Given the description of an element on the screen output the (x, y) to click on. 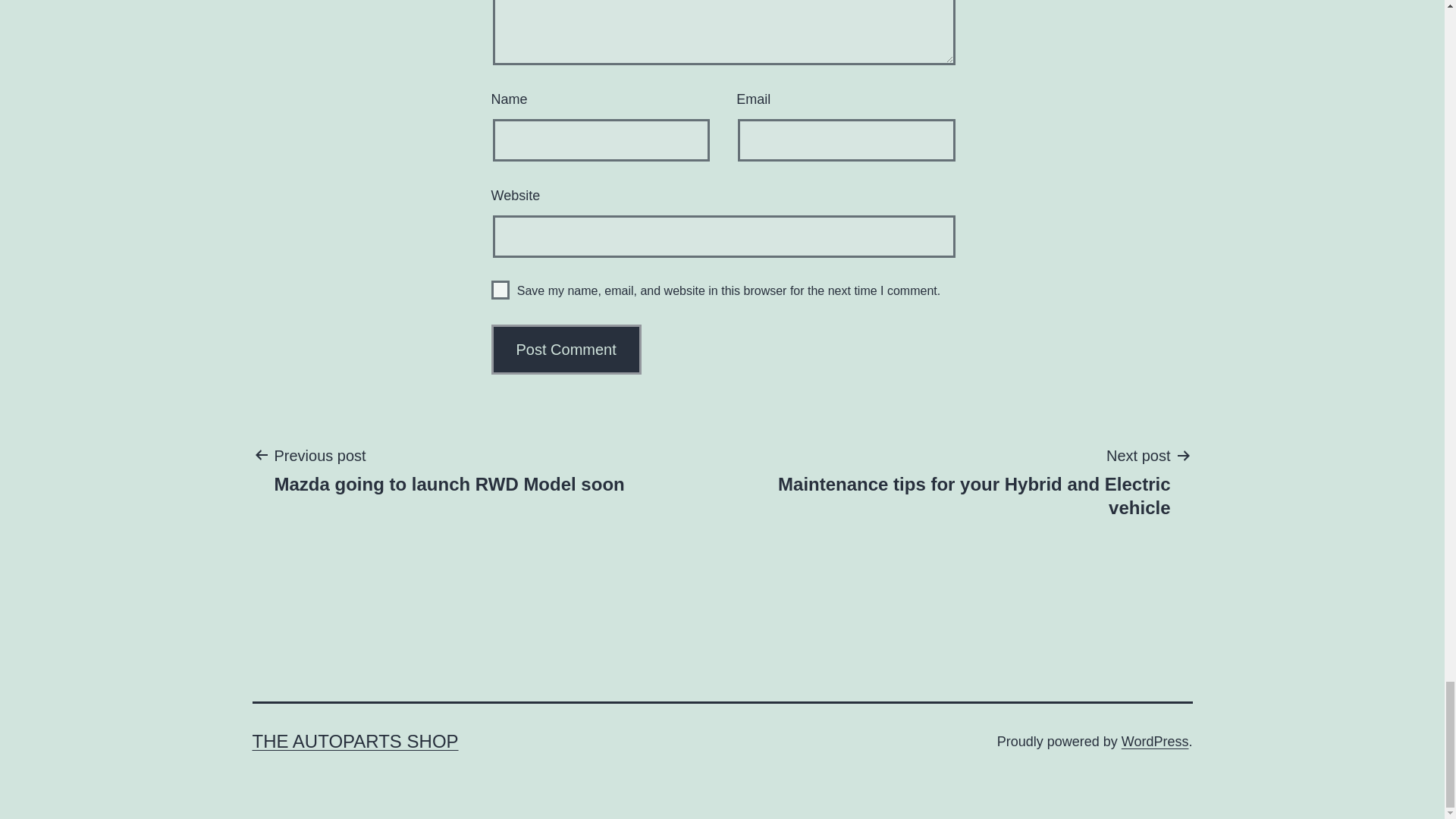
Post Comment (567, 349)
yes (500, 289)
THE AUTOPARTS SHOP (354, 741)
WordPress (1155, 741)
Post Comment (567, 349)
